Given the description of an element on the screen output the (x, y) to click on. 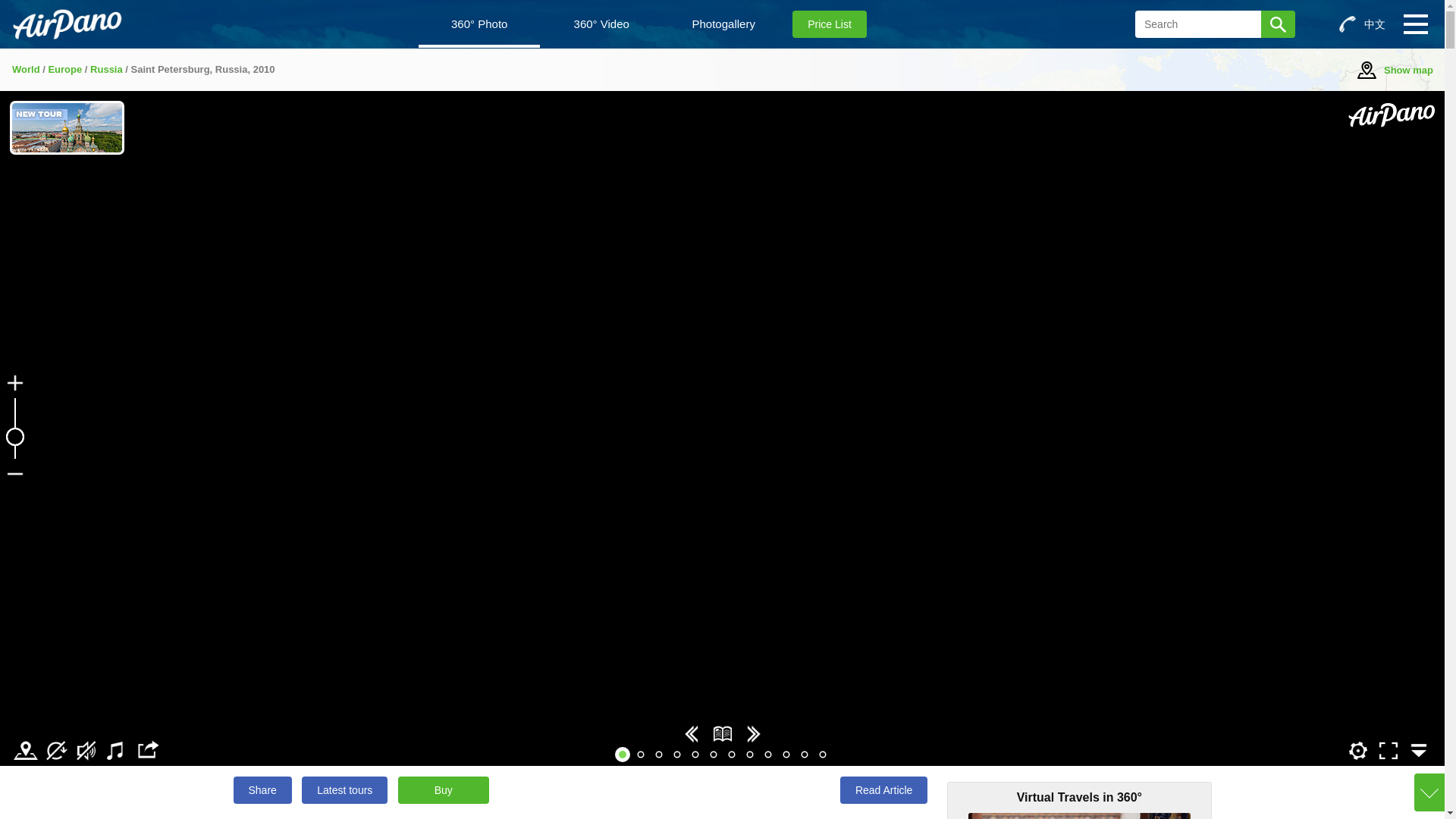
Europe (64, 69)
Price List (829, 23)
World (25, 69)
Photogallery (723, 23)
link text (694, 750)
Russia (106, 69)
